Given the description of an element on the screen output the (x, y) to click on. 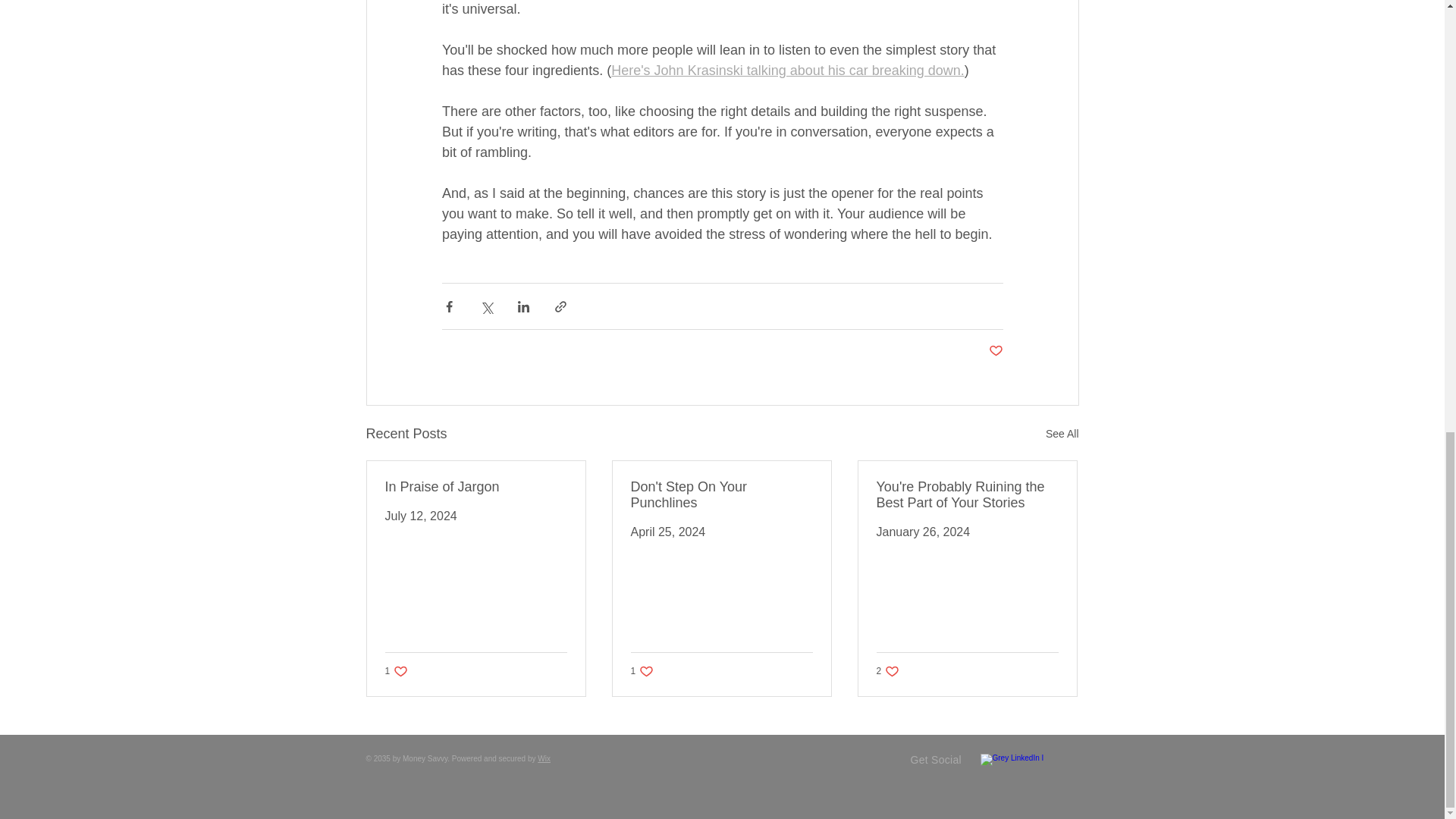
Here's John Krasinski talking about his car breaking down. (787, 70)
You're Probably Ruining the Best Part of Your Stories (967, 495)
In Praise of Jargon (476, 487)
Don't Step On Your Punchlines (721, 495)
See All (887, 671)
Wix (1061, 434)
Post not marked as liked (543, 758)
